Given the description of an element on the screen output the (x, y) to click on. 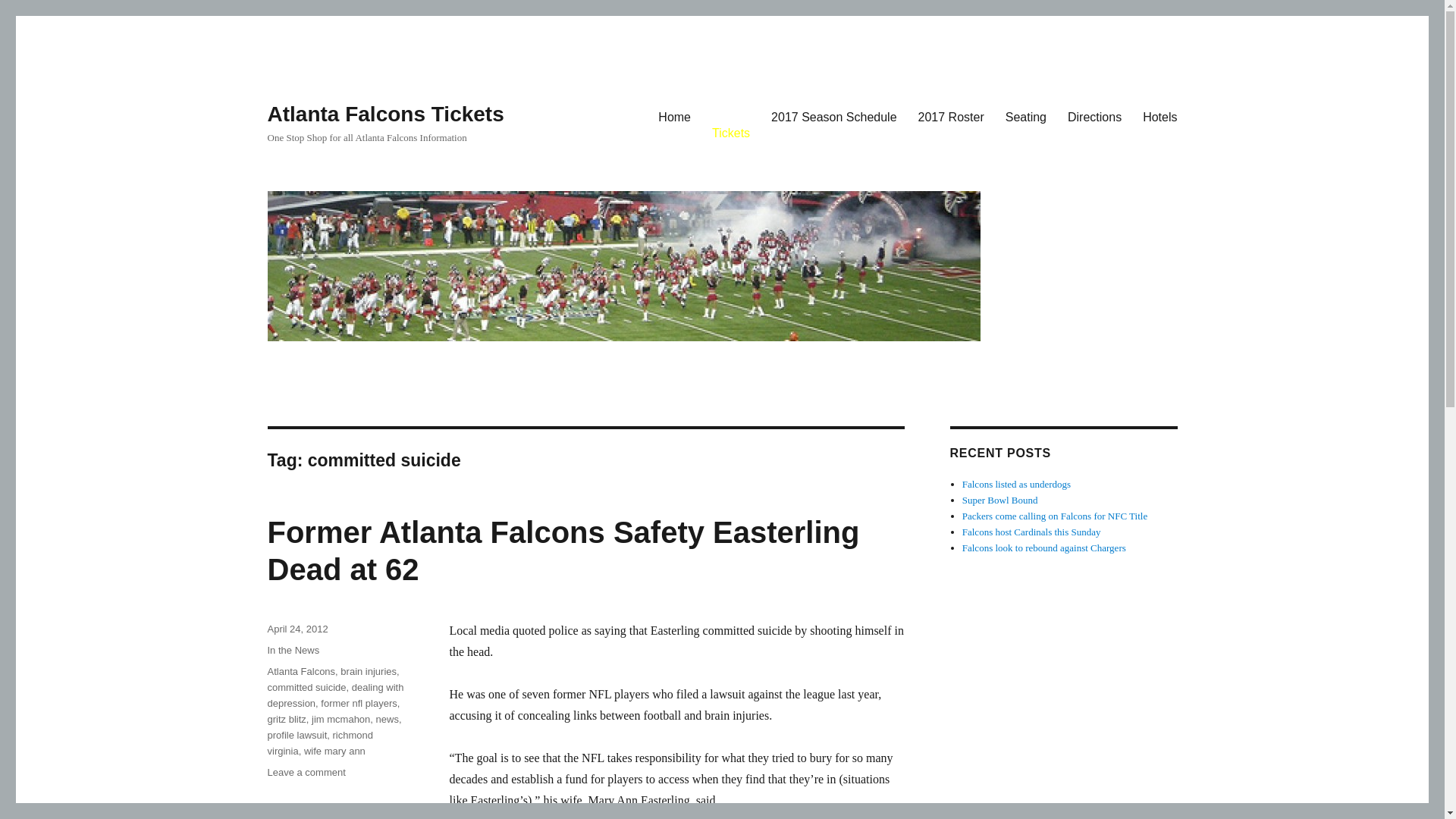
Home (674, 116)
Seating (1025, 116)
Atlanta Falcons (300, 671)
Hotels (1160, 116)
Former Atlanta Falcons Safety Easterling Dead at 62 (562, 550)
Directions (1094, 116)
Falcons look to rebound against Chargers (1043, 547)
Super Bowl Bound (1000, 500)
Falcons listed as underdogs (1016, 483)
April 24, 2012 (296, 628)
In the News (292, 650)
profile lawsuit (296, 735)
2017 Season Schedule (833, 116)
richmond virginia (319, 742)
